Given the description of an element on the screen output the (x, y) to click on. 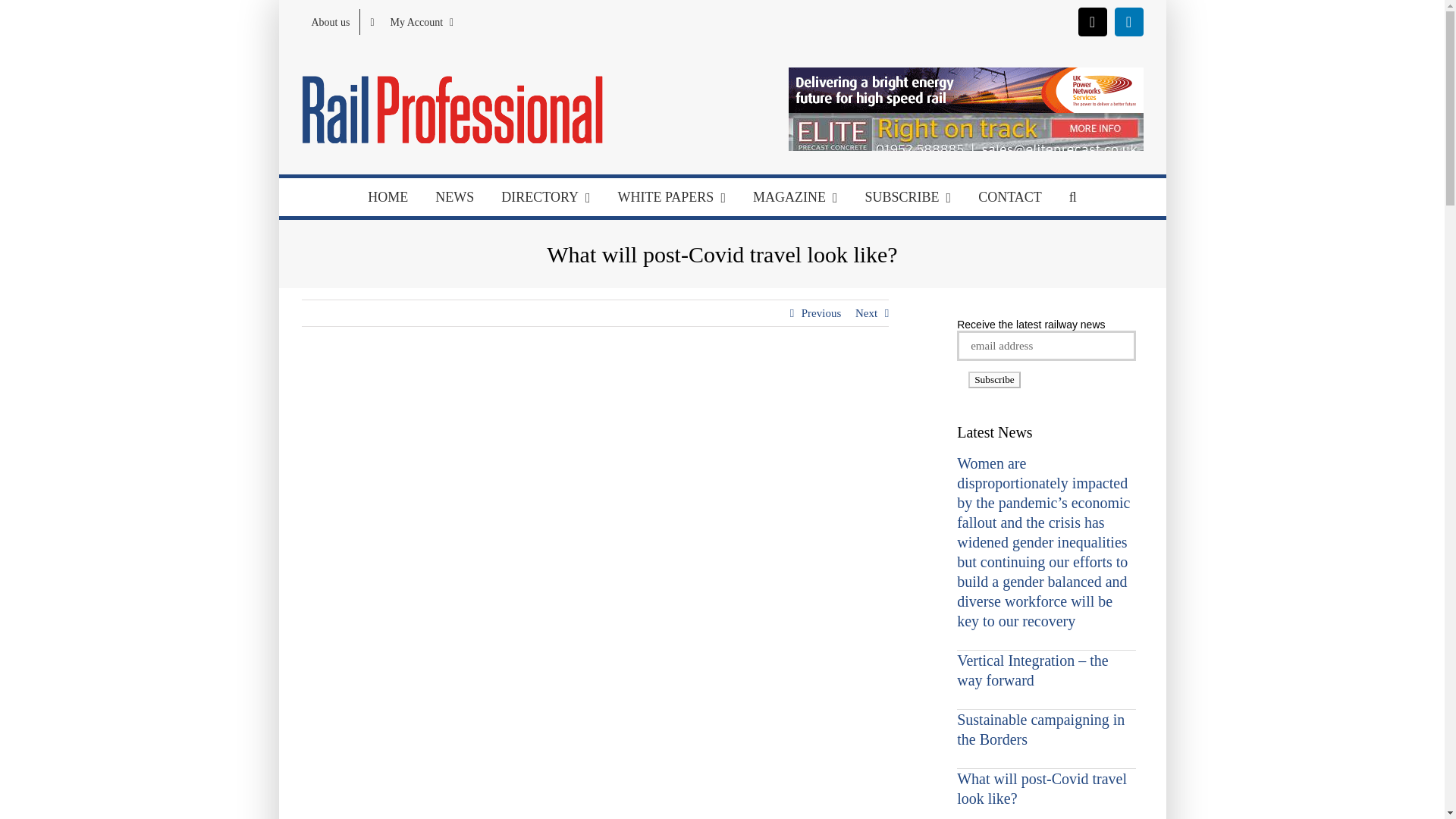
MAGAZINE (795, 197)
LinkedIn (1128, 21)
LinkedIn (1128, 21)
DIRECTORY (545, 197)
My Account (411, 22)
CONTACT (1009, 197)
About us (330, 22)
WHITE PAPERS (671, 197)
Search (1072, 197)
SUBSCRIBE (908, 197)
